Given the description of an element on the screen output the (x, y) to click on. 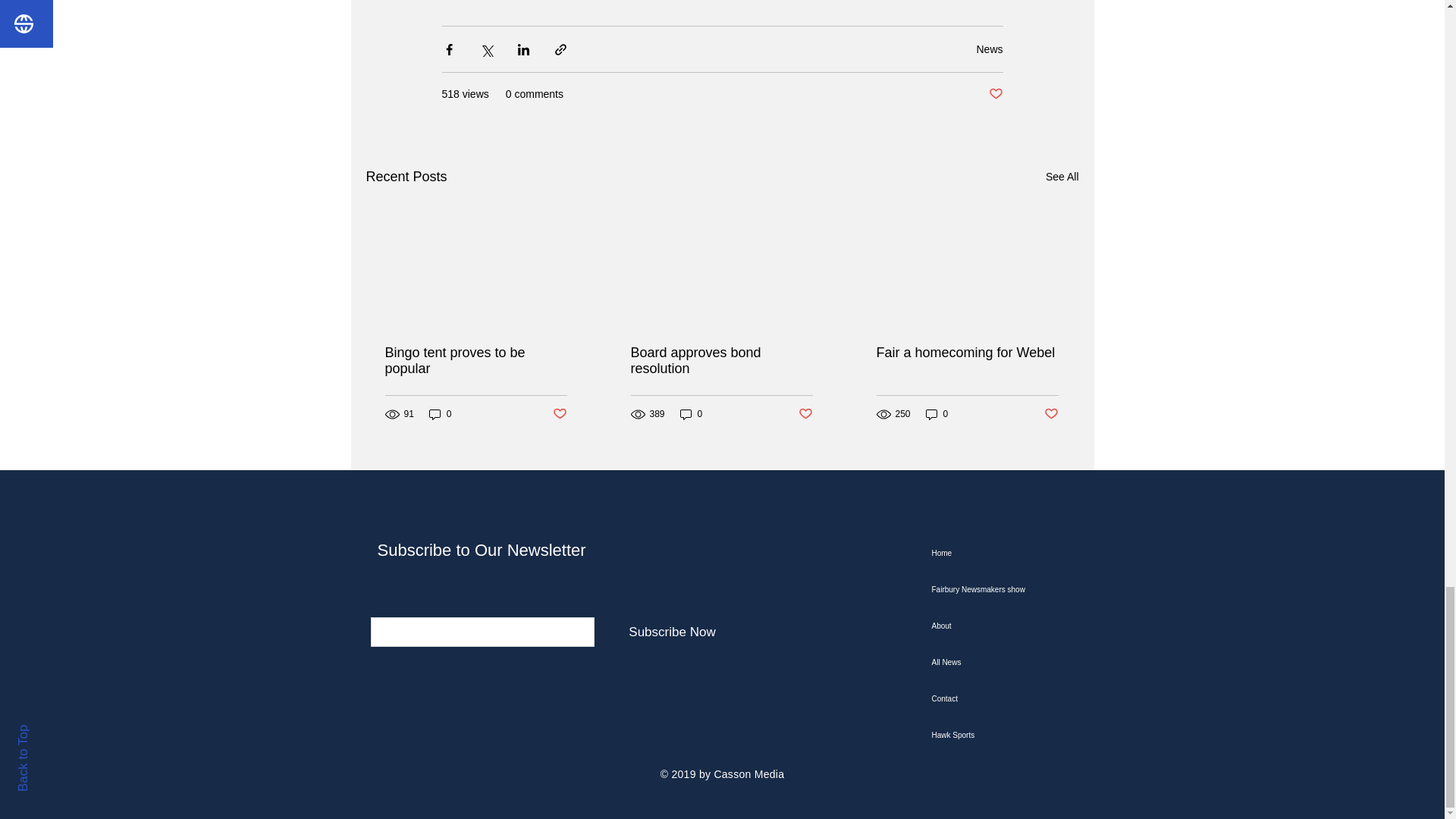
Bingo tent proves to be popular (476, 360)
0 (937, 413)
Post not marked as liked (1050, 414)
See All (1061, 177)
Subscribe Now (672, 632)
Post not marked as liked (804, 414)
Board approves bond resolution (721, 360)
0 (440, 413)
0 (691, 413)
Fair a homecoming for Webel (967, 352)
